Given the description of an element on the screen output the (x, y) to click on. 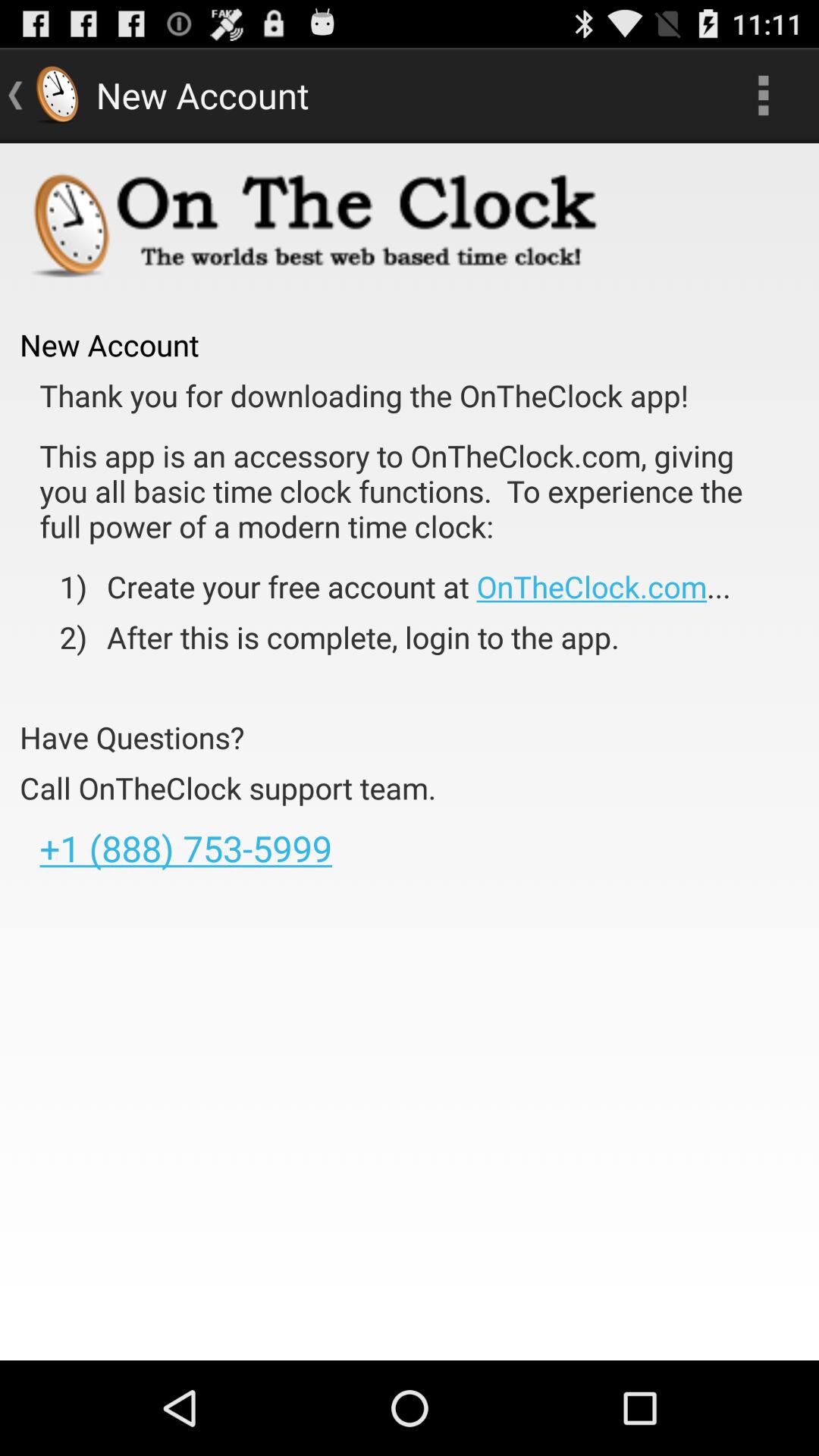
scroll to the thank you for icon (363, 395)
